Given the description of an element on the screen output the (x, y) to click on. 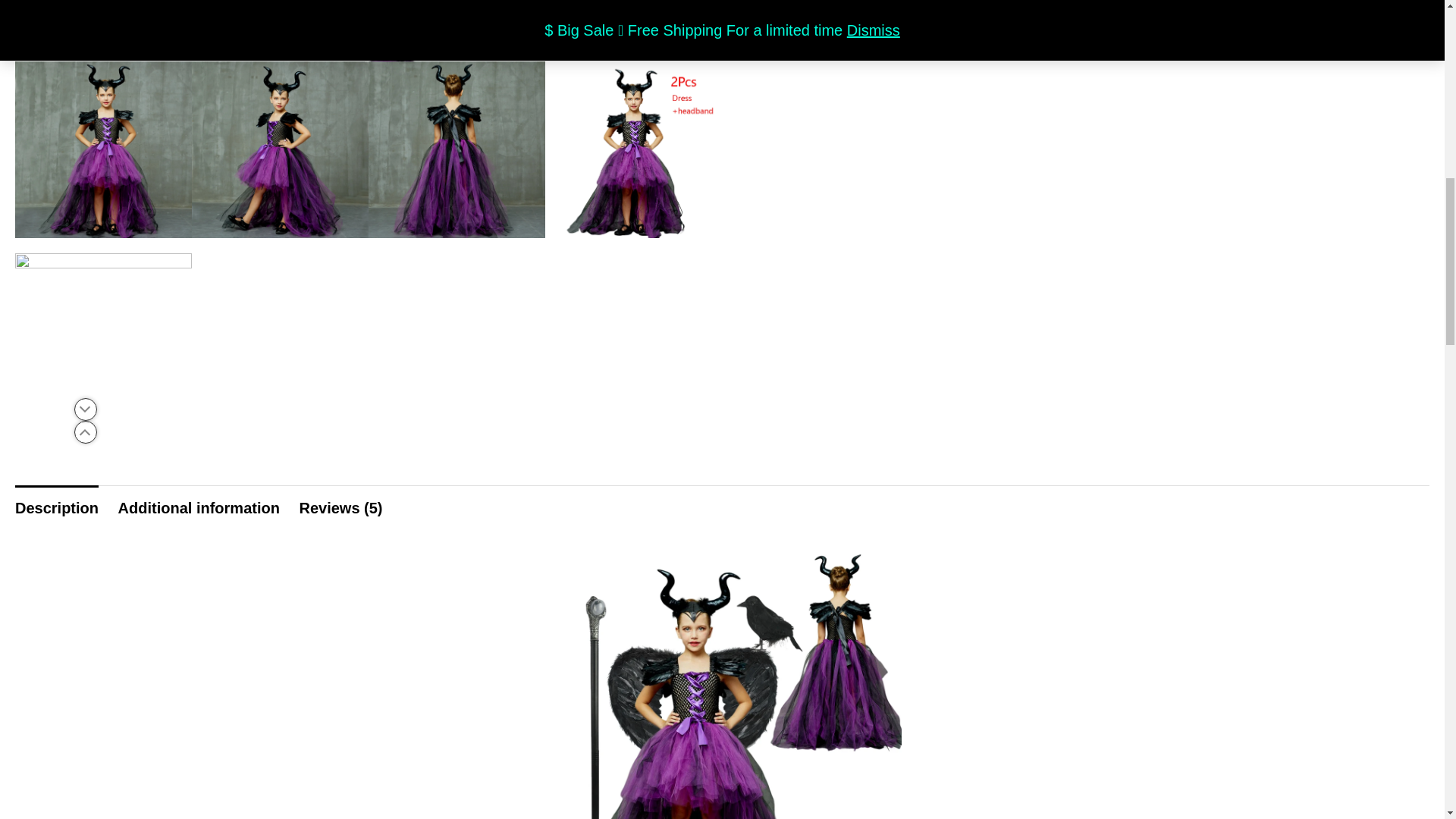
97146-2f7714.jpg (633, 148)
97146-057a3e.jpg (368, 30)
97146-d0a357.jpg (103, 148)
97146-83dbd9.jpg (103, 336)
97146-c80090.jpg (456, 148)
97146-05b4de.jpg (280, 148)
